Given the description of an element on the screen output the (x, y) to click on. 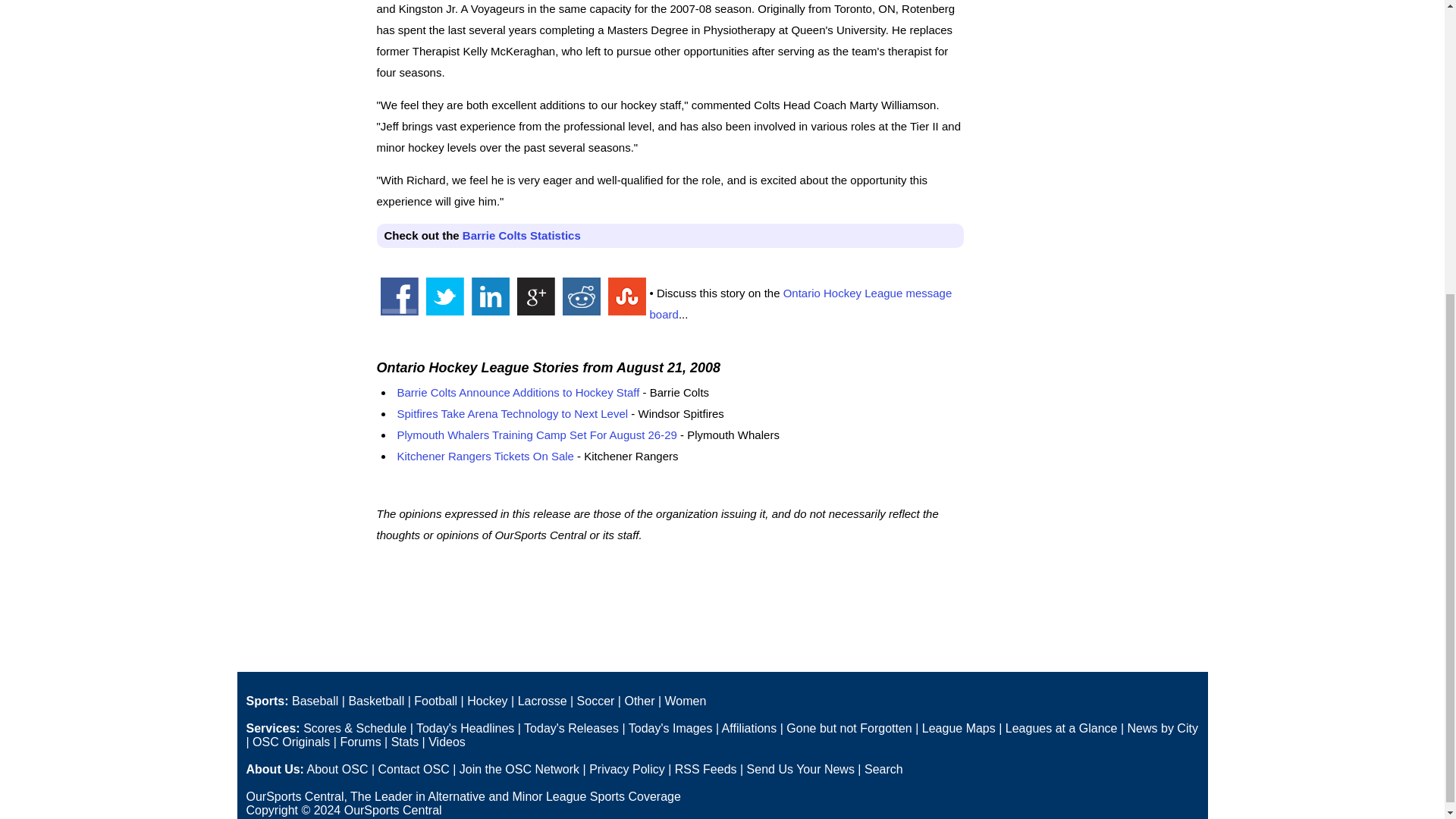
Today's Headlines (464, 727)
News by City (1162, 727)
OSC Video (446, 741)
Today's Releases (571, 727)
Leagues at a Glance (1062, 727)
Privacy Policy (627, 768)
Send Us Your News (800, 768)
OSC Originals (290, 741)
Contact OSC (412, 768)
Sports Statistics (405, 741)
